Given the description of an element on the screen output the (x, y) to click on. 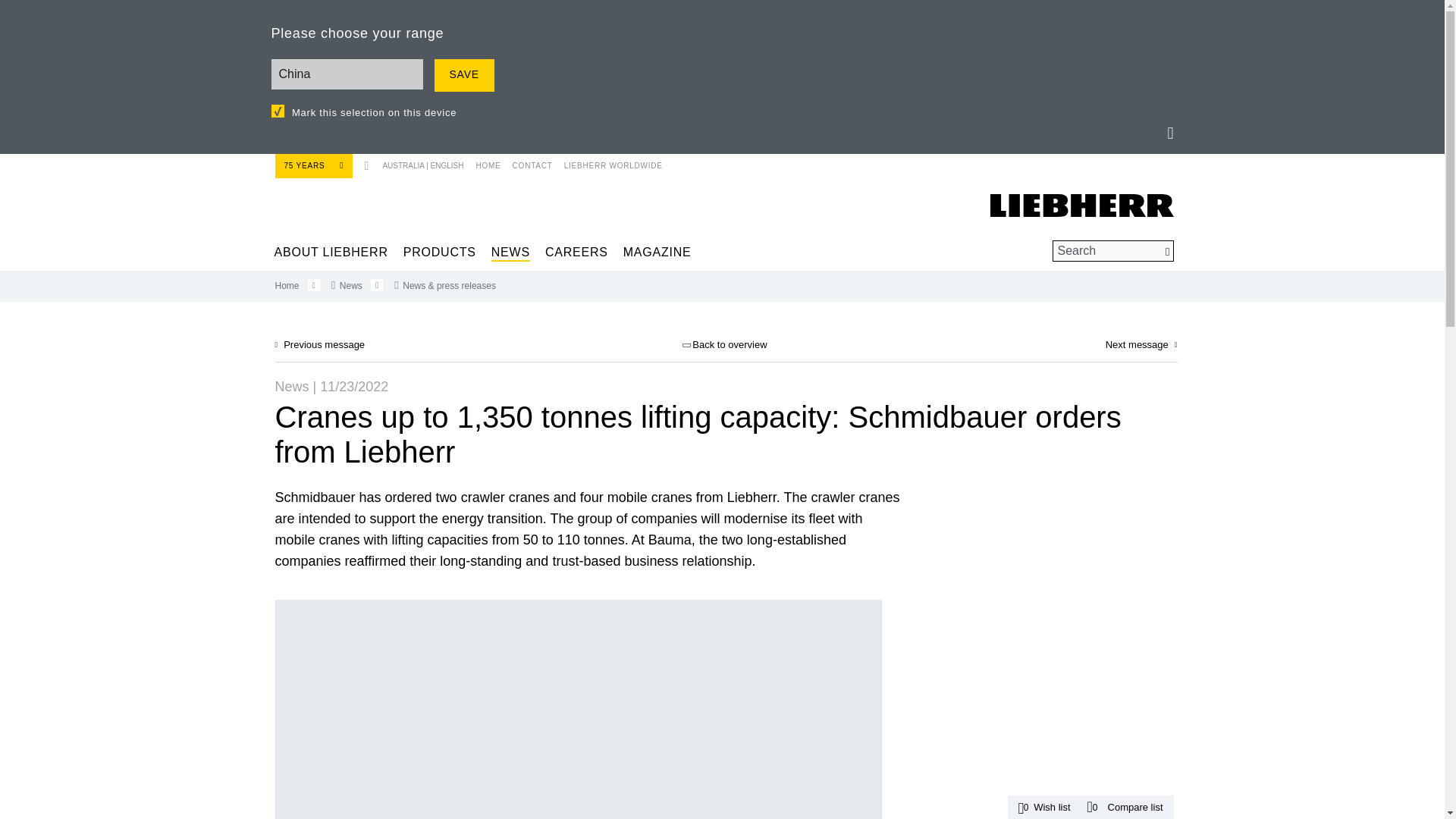
on (276, 110)
LIEBHERR WORLDWIDE (607, 162)
HOME (485, 162)
CONTACT (526, 162)
SAVE (463, 74)
About Liebherr (331, 251)
ABOUT LIEBHERR (331, 251)
75 YEARS (313, 165)
